Given the description of an element on the screen output the (x, y) to click on. 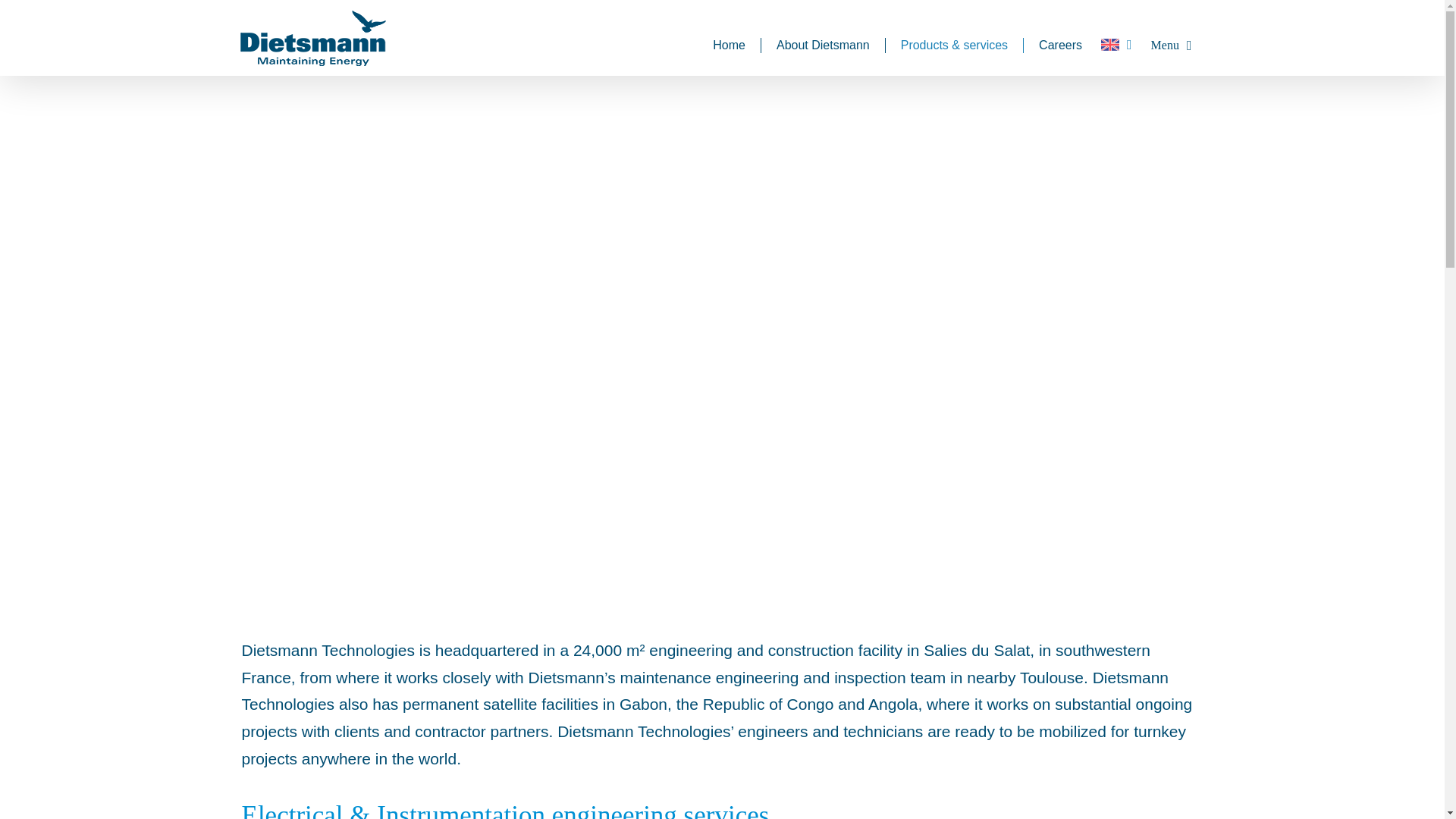
Toggle Sliding Bar (1171, 45)
About Dietsmann (823, 45)
Home (729, 45)
Careers (1060, 45)
